Given the description of an element on the screen output the (x, y) to click on. 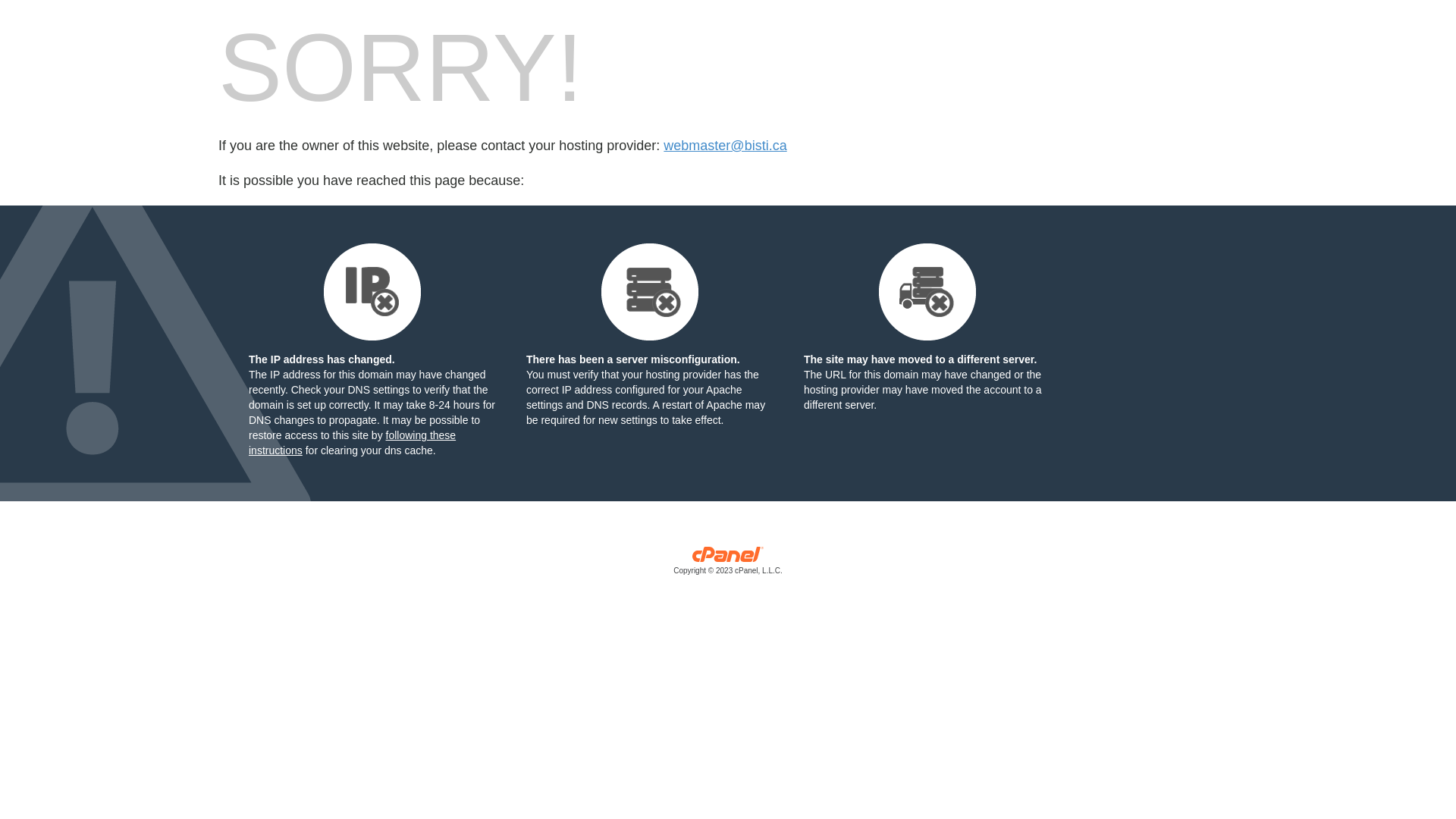
following these instructions Element type: text (351, 442)
webmaster@bisti.ca Element type: text (724, 145)
